Given the description of an element on the screen output the (x, y) to click on. 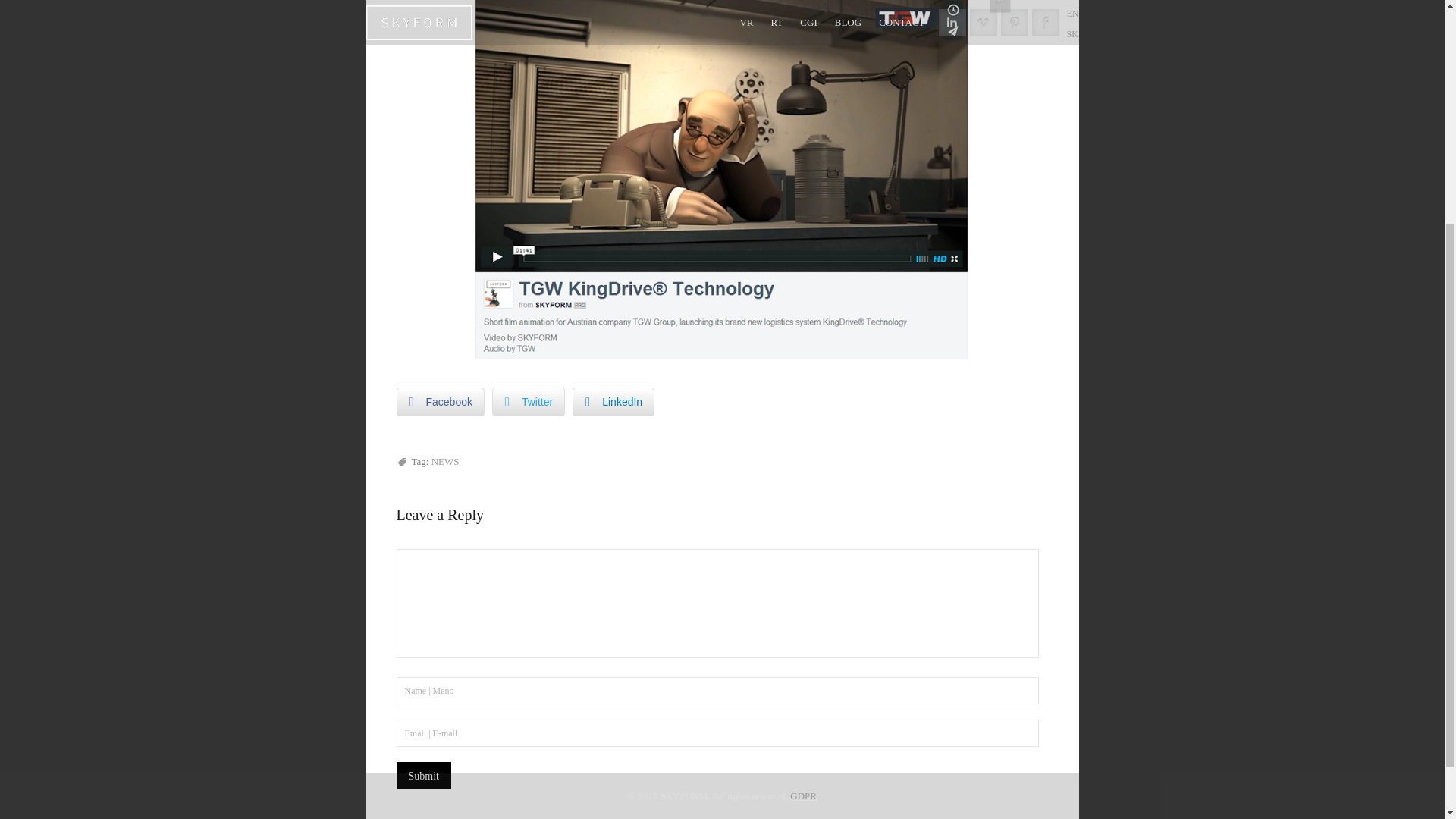
Submit (422, 775)
Facebook (439, 401)
Twitter (528, 401)
GDPR (803, 473)
Submit (422, 775)
LinkedIn (612, 401)
NEWS (445, 460)
